Given the description of an element on the screen output the (x, y) to click on. 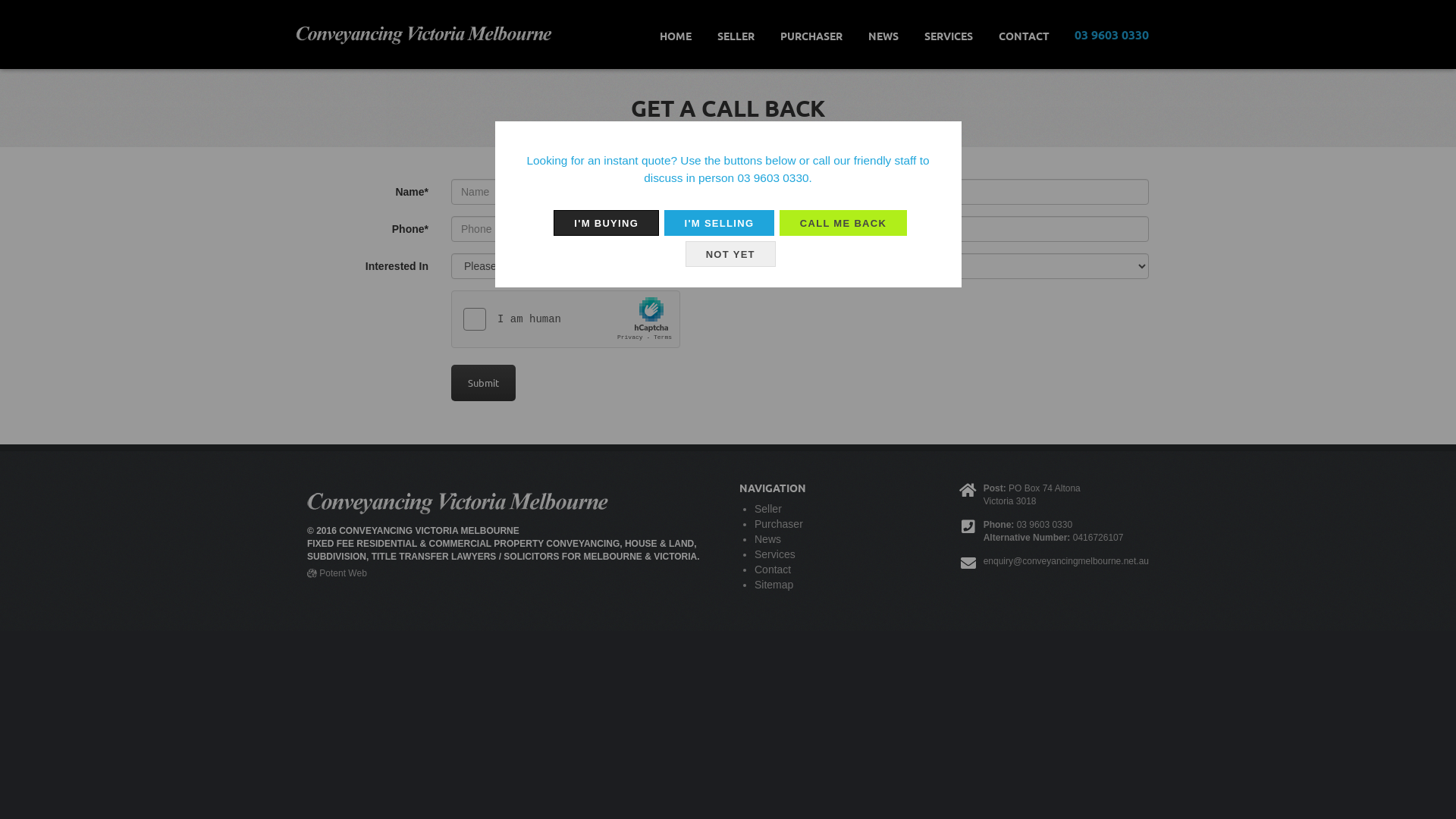
03 9603 0330 Element type: text (1044, 524)
SERVICES Element type: text (948, 35)
Widget containing checkbox for hCaptcha security challenge Element type: hover (565, 319)
Potent Web Element type: text (337, 572)
Submit Element type: text (483, 382)
HOME Element type: text (675, 35)
Services Element type: text (774, 554)
I'M SELLING Element type: text (719, 223)
CALL ME BACK Element type: text (842, 223)
Contact Element type: text (772, 569)
NOT YET Element type: text (730, 254)
NEWS Element type: text (883, 35)
I'M BUYING Element type: text (605, 223)
SELLER Element type: text (735, 35)
enquiry@conveyancingmelbourne.net.au Element type: text (1065, 560)
03 9603 0330 Element type: text (772, 177)
Sitemap Element type: text (773, 584)
Seller Element type: text (767, 508)
CONTACT Element type: text (1023, 35)
News Element type: text (767, 539)
Purchaser Element type: text (778, 523)
03 9603 0330 Element type: text (1105, 34)
0416726107 Element type: text (1098, 537)
PURCHASER Element type: text (811, 35)
